Given the description of an element on the screen output the (x, y) to click on. 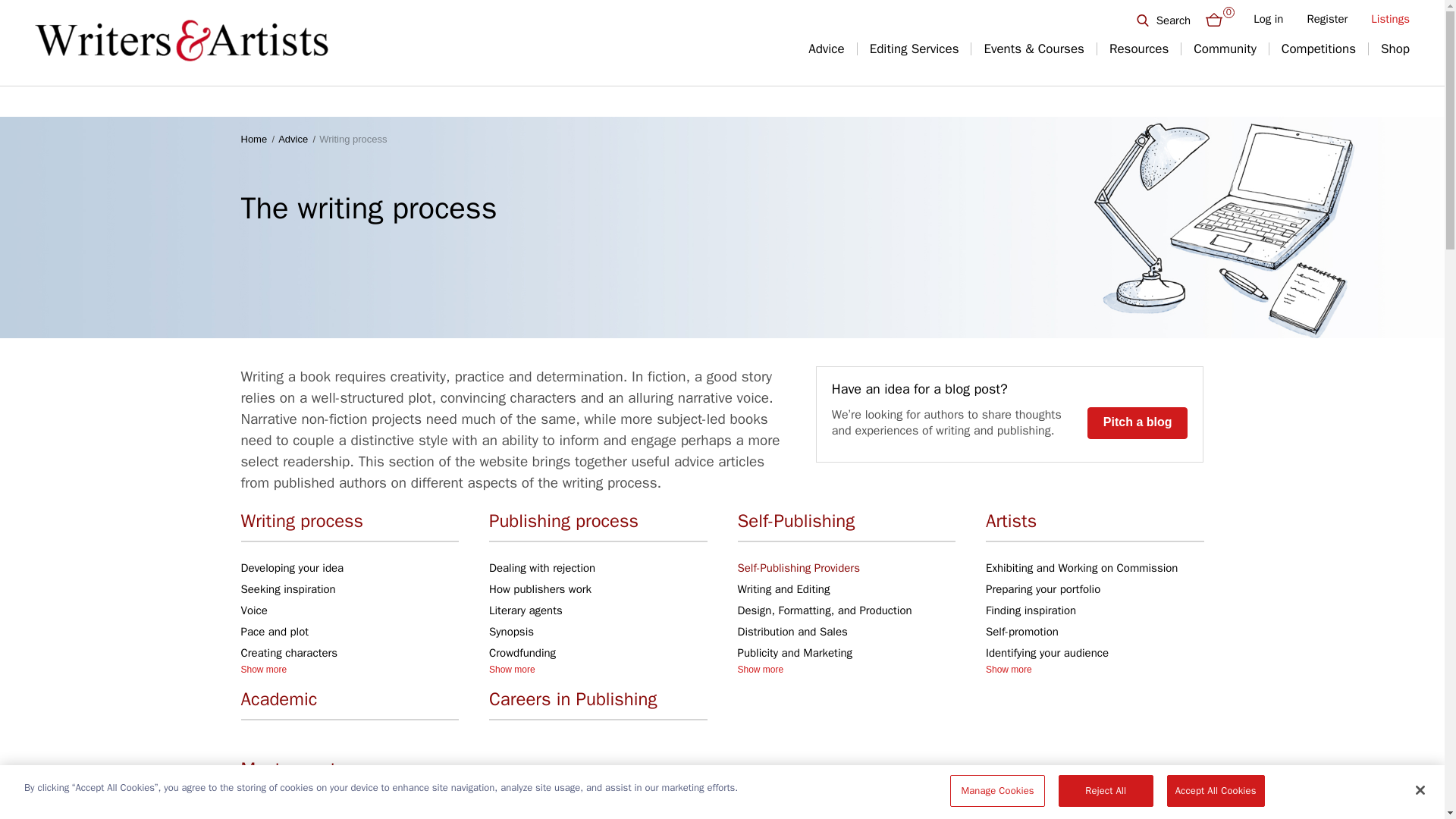
Register (1327, 19)
Skip to main content (721, 1)
Careers in Publishing (598, 703)
Listings (1390, 19)
Advice (826, 48)
Search (1173, 20)
0 (1215, 18)
Log in (1267, 19)
Academic (350, 703)
Home (181, 42)
